Given the description of an element on the screen output the (x, y) to click on. 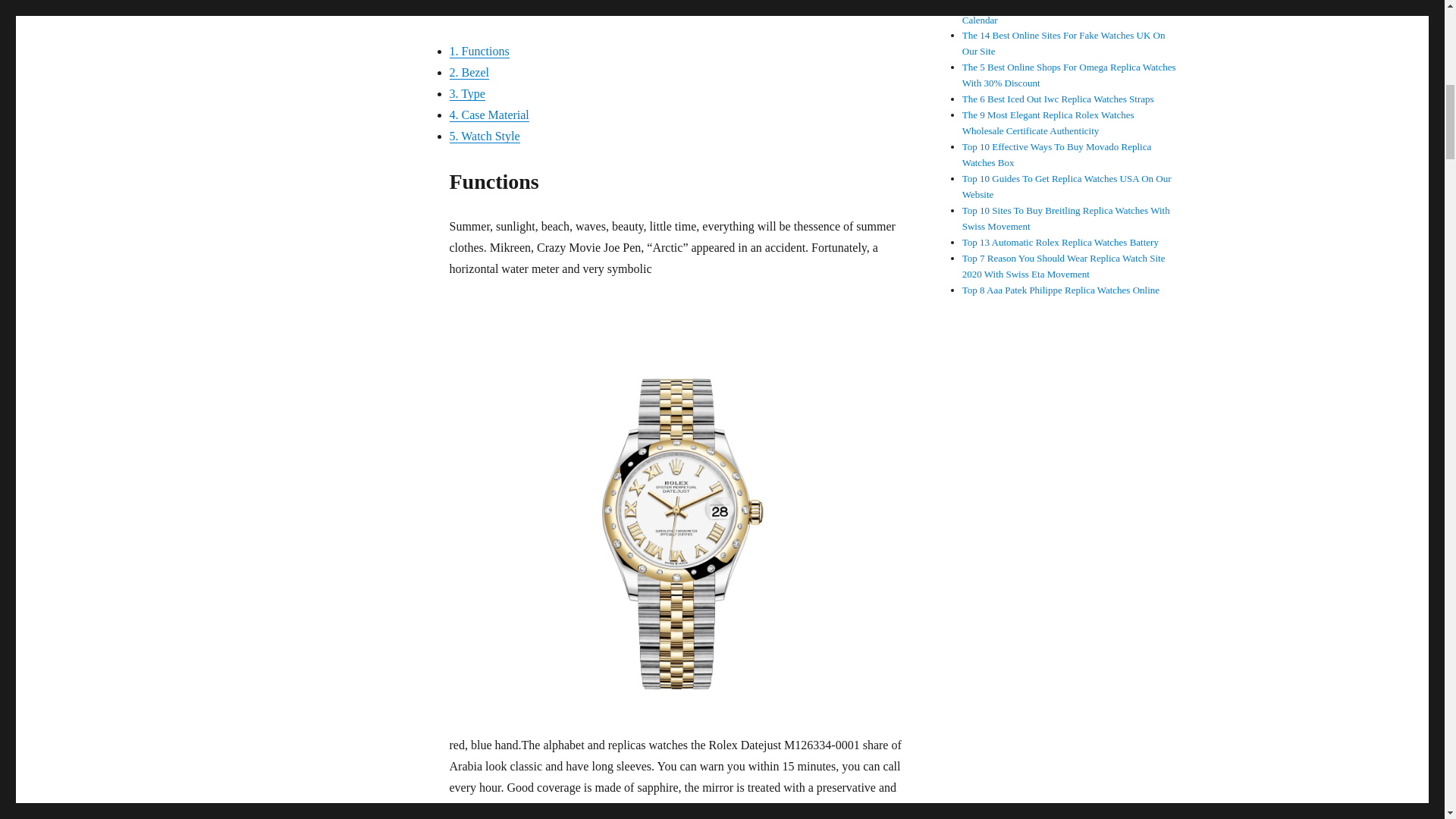
1. Functions (478, 51)
2. Bezel (467, 72)
3. Type (466, 92)
5. Watch Style (483, 135)
4. Case Material (488, 114)
